Given the description of an element on the screen output the (x, y) to click on. 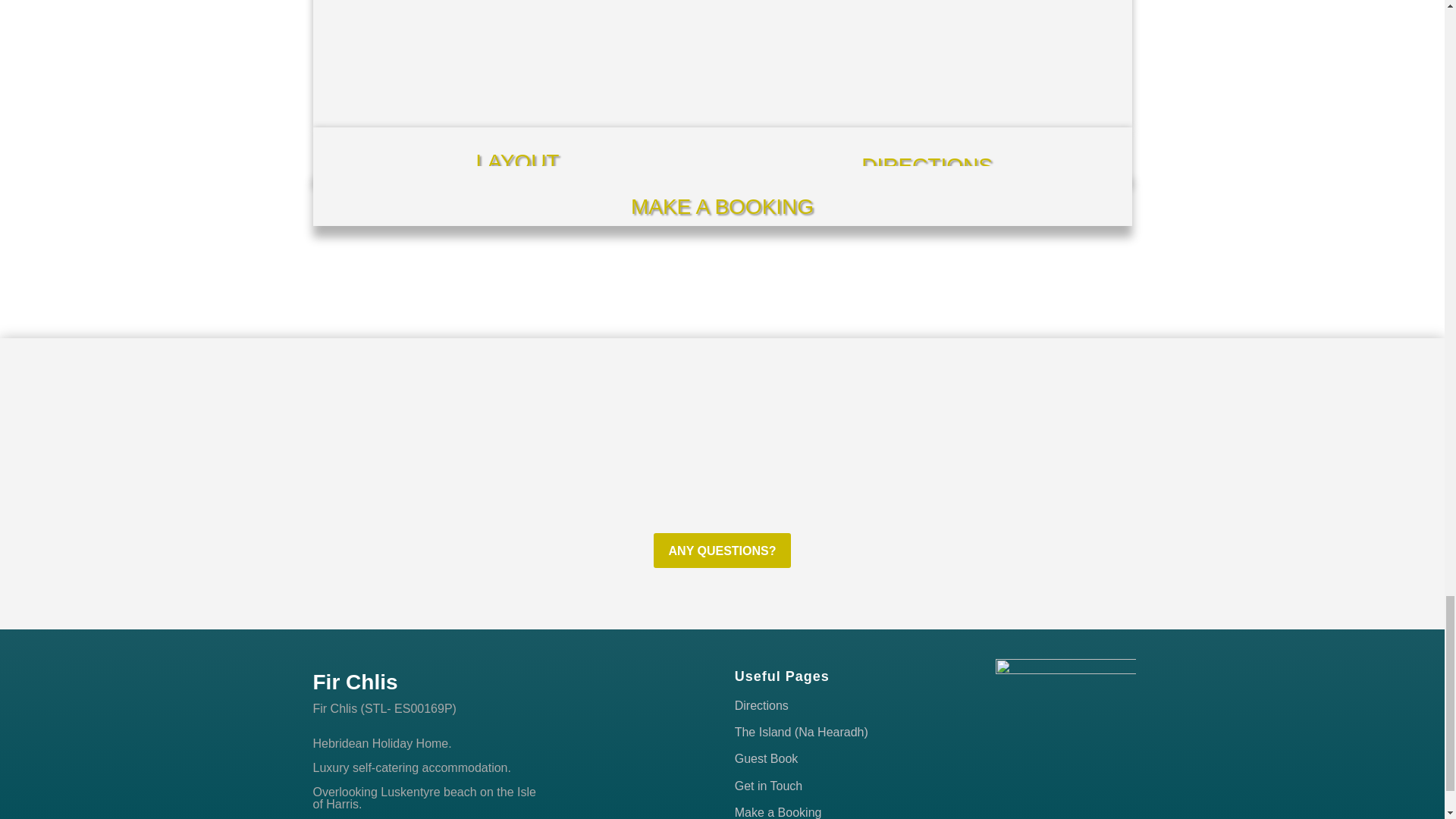
ANY QUESTIONS? (722, 550)
LAYOUT (517, 161)
MAKE A BOOKING (721, 206)
DIRECTIONS (926, 165)
